Given the description of an element on the screen output the (x, y) to click on. 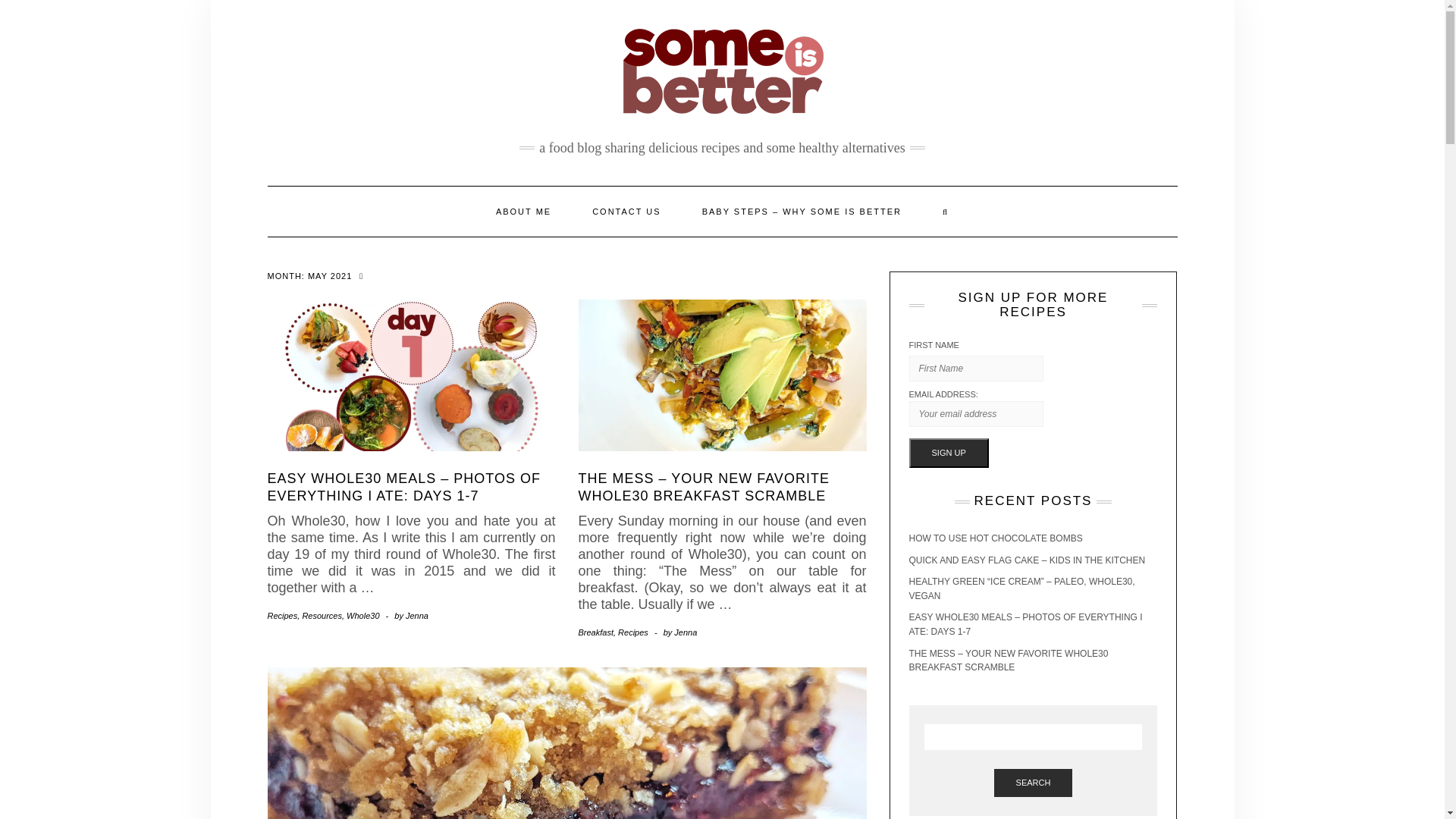
Sign up (948, 453)
Recipes (281, 614)
Sign up (948, 453)
ABOUT ME (524, 211)
CONTACT US (626, 211)
SEARCH (1033, 783)
Breakfast (595, 632)
Recipes (632, 632)
Whole30 (362, 614)
Resources (321, 614)
HOW TO USE HOT CHOCOLATE BOMBS (994, 538)
